Given the description of an element on the screen output the (x, y) to click on. 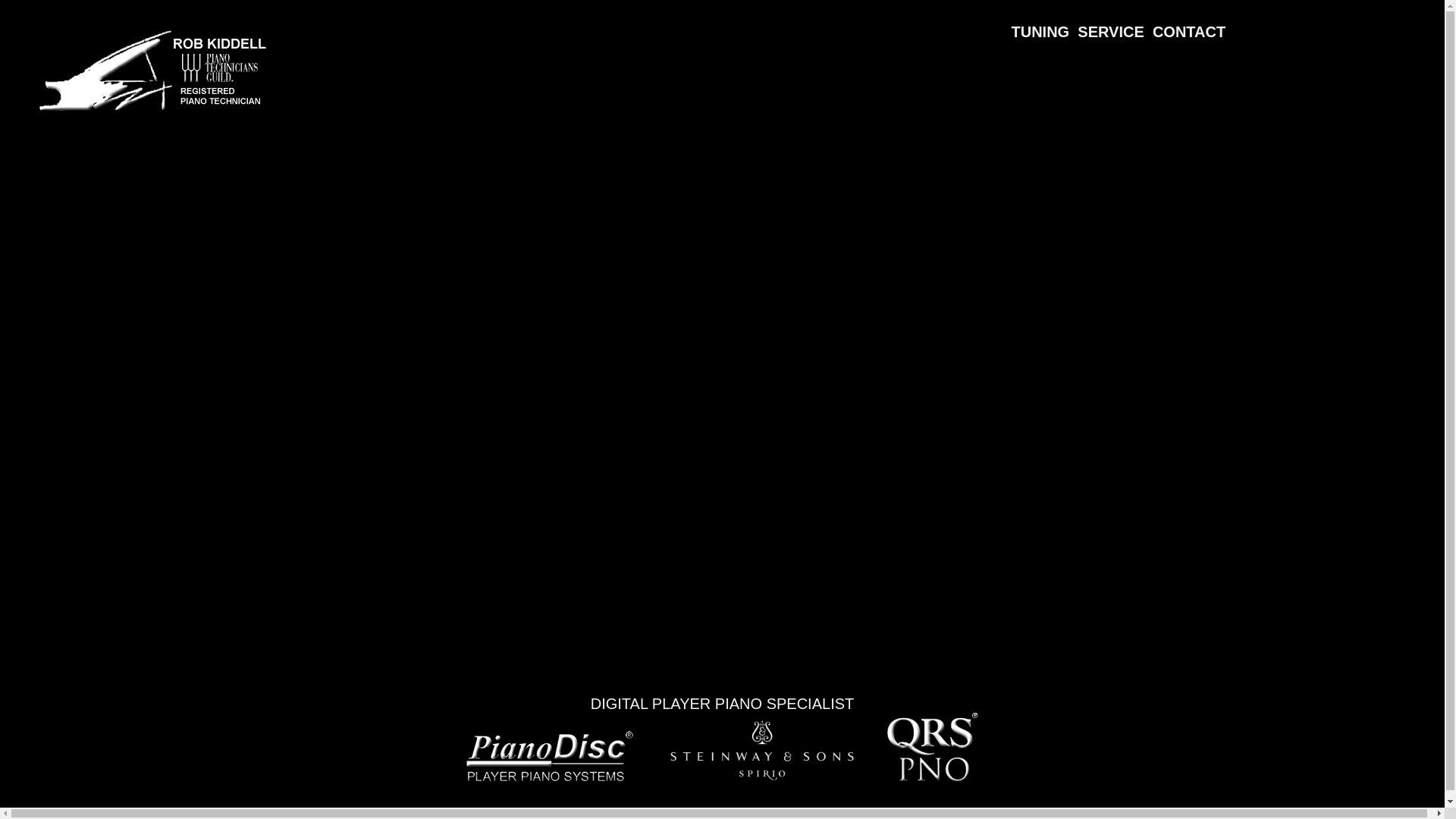
SERVICE   Element type: text (1114, 23)
CONTACT Element type: text (1188, 23)
TUNING   Element type: text (1044, 23)
